Given the description of an element on the screen output the (x, y) to click on. 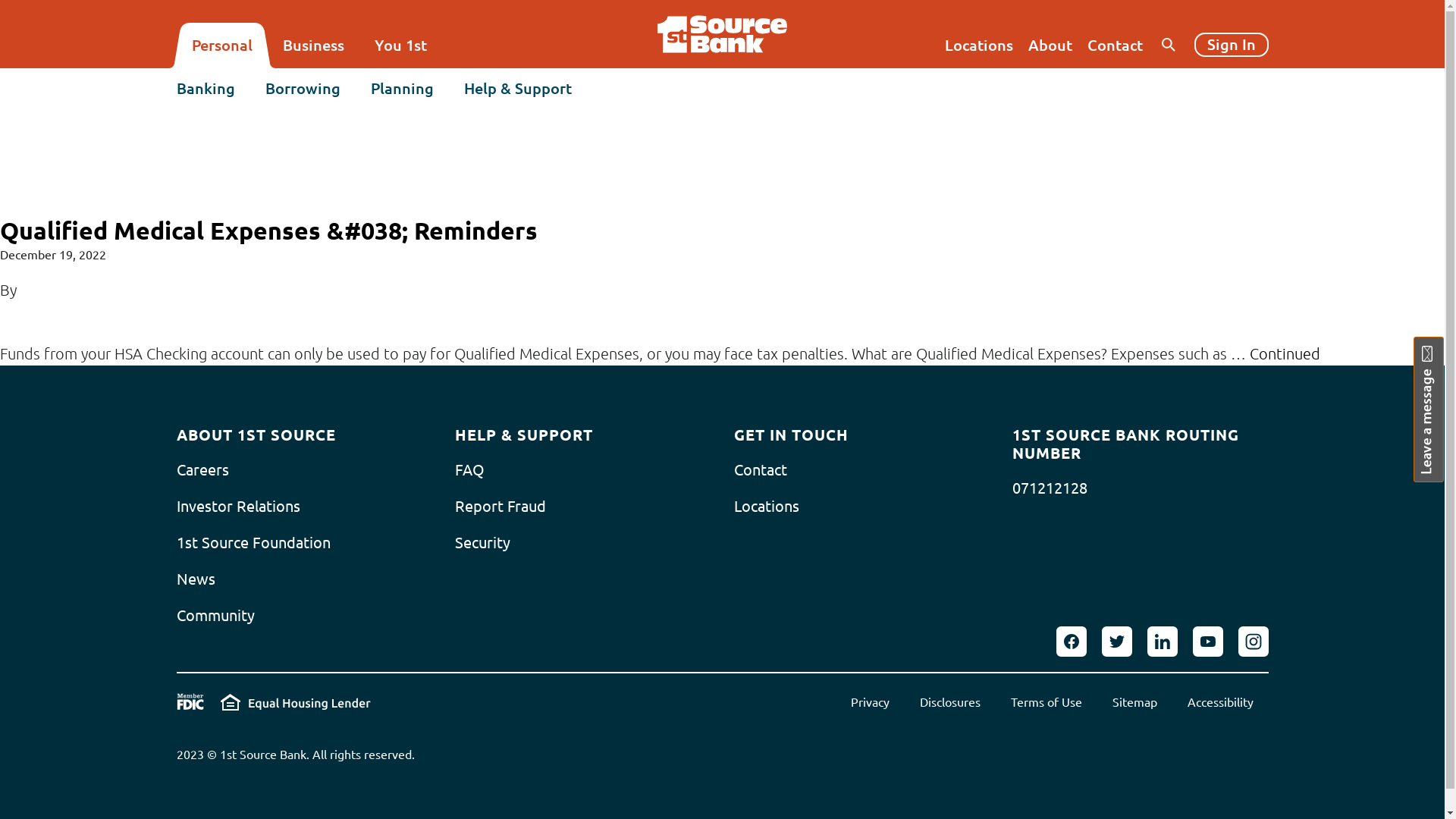
Instagram Element type: text (1252, 641)
071212128 Element type: text (1049, 487)
1st Source Element type: text (721, 34)
Sign In Element type: text (1230, 44)
Help & Support Element type: text (517, 88)
Terms of Use Element type: text (1045, 702)
1ST SOURCE BANK ROUTING NUMBER Element type: text (1140, 444)
Continued Element type: text (1284, 353)
Planning Element type: text (401, 88)
GET IN TOUCH Element type: text (791, 435)
Privacy Element type: text (869, 702)
FAQ Element type: text (469, 469)
Careers Element type: text (201, 469)
Contact Element type: text (760, 469)
Contact Element type: text (1114, 45)
News Element type: text (194, 578)
Personal Element type: text (220, 45)
Community Element type: text (214, 615)
Linkedin Element type: text (1161, 641)
Facebook Element type: text (1070, 641)
Qualified Medical Expenses &#038; Reminders Element type: text (268, 230)
Accessibility Element type: text (1220, 702)
Youtube Element type: text (1207, 641)
HELP & SUPPORT Element type: text (524, 435)
Banking Element type: text (204, 88)
1st Source Foundation Element type: text (252, 542)
You 1st Element type: text (400, 45)
About Element type: text (1049, 45)
Borrowing Element type: text (302, 88)
ABOUT 1ST SOURCE Element type: text (255, 435)
Investor Relations Element type: text (237, 506)
Locations Element type: text (978, 45)
Sitemap Element type: text (1133, 702)
Security Element type: text (482, 542)
Locations Element type: text (766, 506)
Disclosures Element type: text (949, 702)
Report Fraud Element type: text (500, 506)
Search Element type: text (1243, 112)
Twitter Element type: text (1116, 641)
Business Element type: text (312, 45)
